Given the description of an element on the screen output the (x, y) to click on. 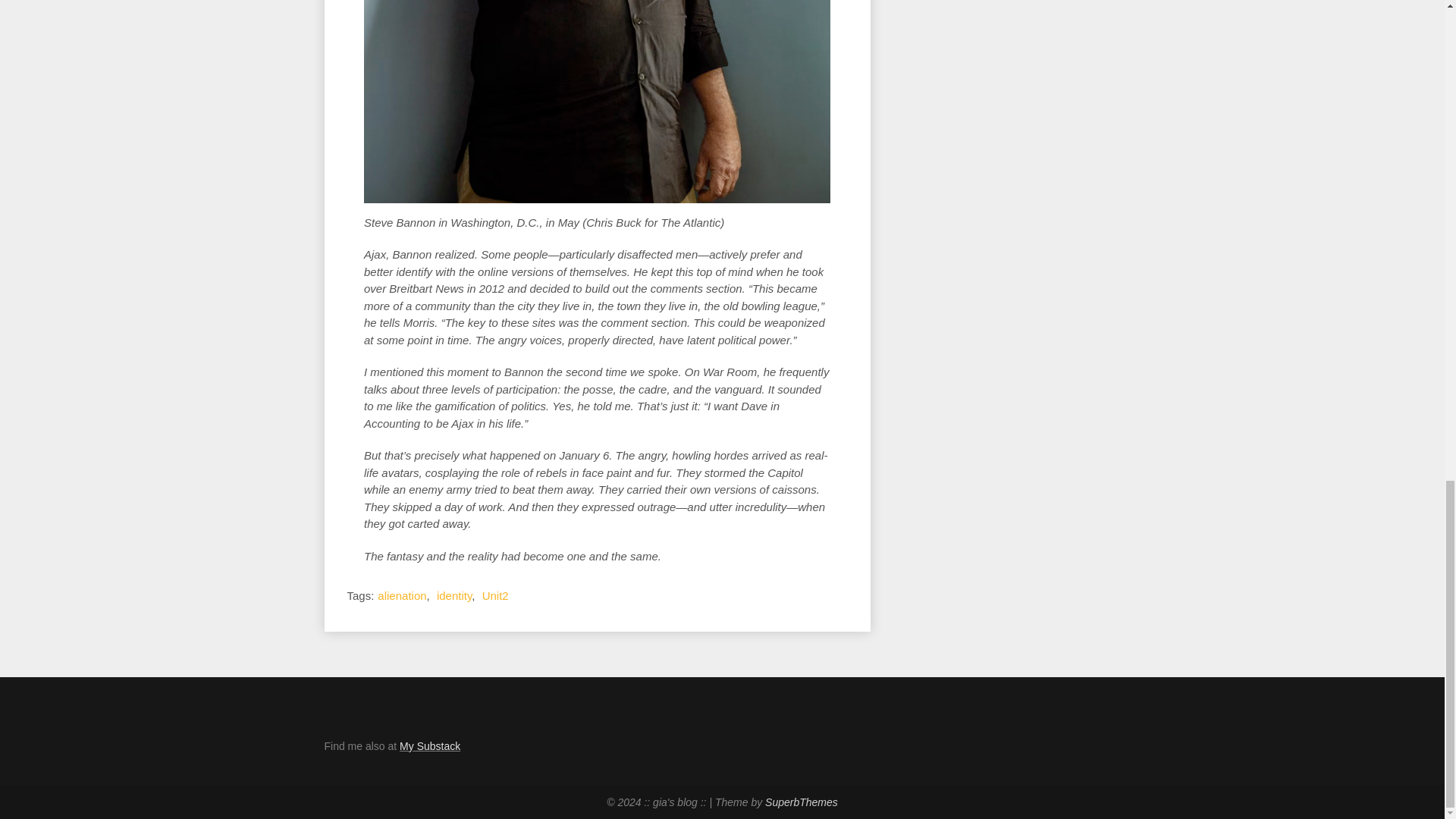
identity (453, 594)
Unit2 (494, 594)
alienation (401, 594)
